Given the description of an element on the screen output the (x, y) to click on. 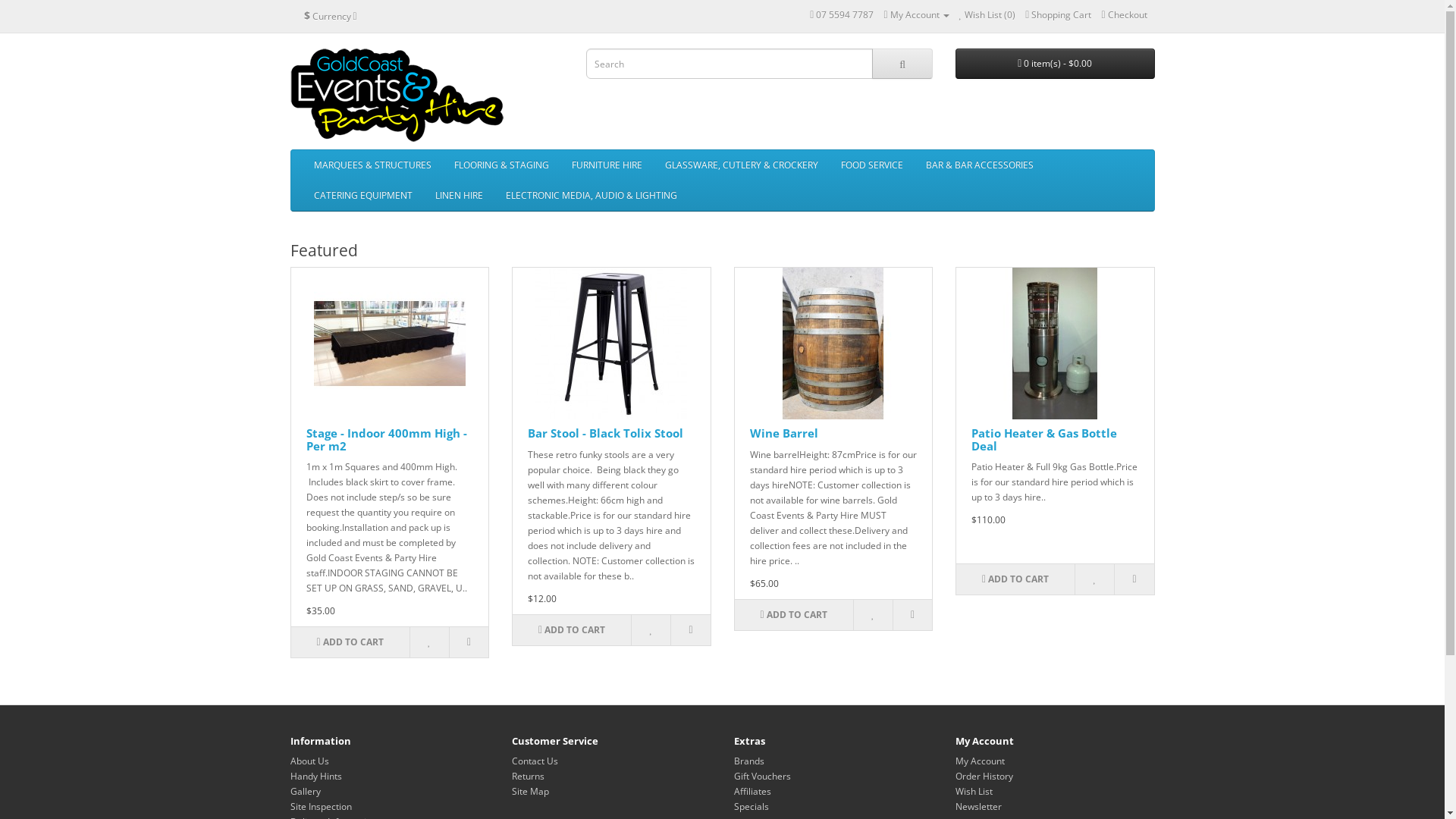
FOOD SERVICE Element type: text (871, 165)
FLOORING & STAGING Element type: text (501, 165)
Wine Barrel Element type: hover (833, 343)
Wine Barrel Element type: text (783, 432)
Shopping Cart Element type: text (1058, 14)
Affiliates Element type: text (752, 790)
My Account Element type: text (915, 14)
ADD TO CART Element type: text (793, 614)
Gold Coast Events and Party Hire Element type: hover (395, 94)
About Us Element type: text (308, 760)
My Account Element type: text (979, 760)
Specials Element type: text (751, 806)
Site Map Element type: text (530, 790)
Wish List Element type: text (973, 790)
Returns Element type: text (527, 775)
GLASSWARE, CUTLERY & CROCKERY Element type: text (741, 165)
ADD TO CART Element type: text (350, 642)
Wish List (0) Element type: text (987, 14)
Site Inspection Element type: text (320, 806)
$ Currency Element type: text (330, 15)
MARQUEES & STRUCTURES Element type: text (371, 165)
ADD TO CART Element type: text (1015, 579)
Stage - Indoor 400mm High - Per m2 Element type: hover (389, 343)
Bar Stool - Black Tolix Stool Element type: text (605, 432)
Contact Us Element type: text (534, 760)
FURNITURE HIRE Element type: text (605, 165)
0 item(s) - $0.00 Element type: text (1054, 63)
Stage - Indoor 400mm High - Per m2 Element type: text (386, 439)
Newsletter Element type: text (978, 806)
Bar Stool - Black Tolix Stool Element type: hover (611, 343)
Checkout Element type: text (1123, 14)
Patio Heater & Gas Bottle Deal Element type: text (1044, 439)
Patio Heater & Gas Bottle Deal Element type: hover (1054, 343)
Gallery Element type: text (304, 790)
Gift Vouchers Element type: text (762, 775)
Brands Element type: text (749, 760)
BAR & BAR ACCESSORIES Element type: text (979, 165)
LINEN HIRE Element type: text (458, 195)
Handy Hints Element type: text (315, 775)
ELECTRONIC MEDIA, AUDIO & LIGHTING Element type: text (591, 195)
CATERING EQUIPMENT Element type: text (362, 195)
ADD TO CART Element type: text (571, 630)
Order History Element type: text (984, 775)
